Given the description of an element on the screen output the (x, y) to click on. 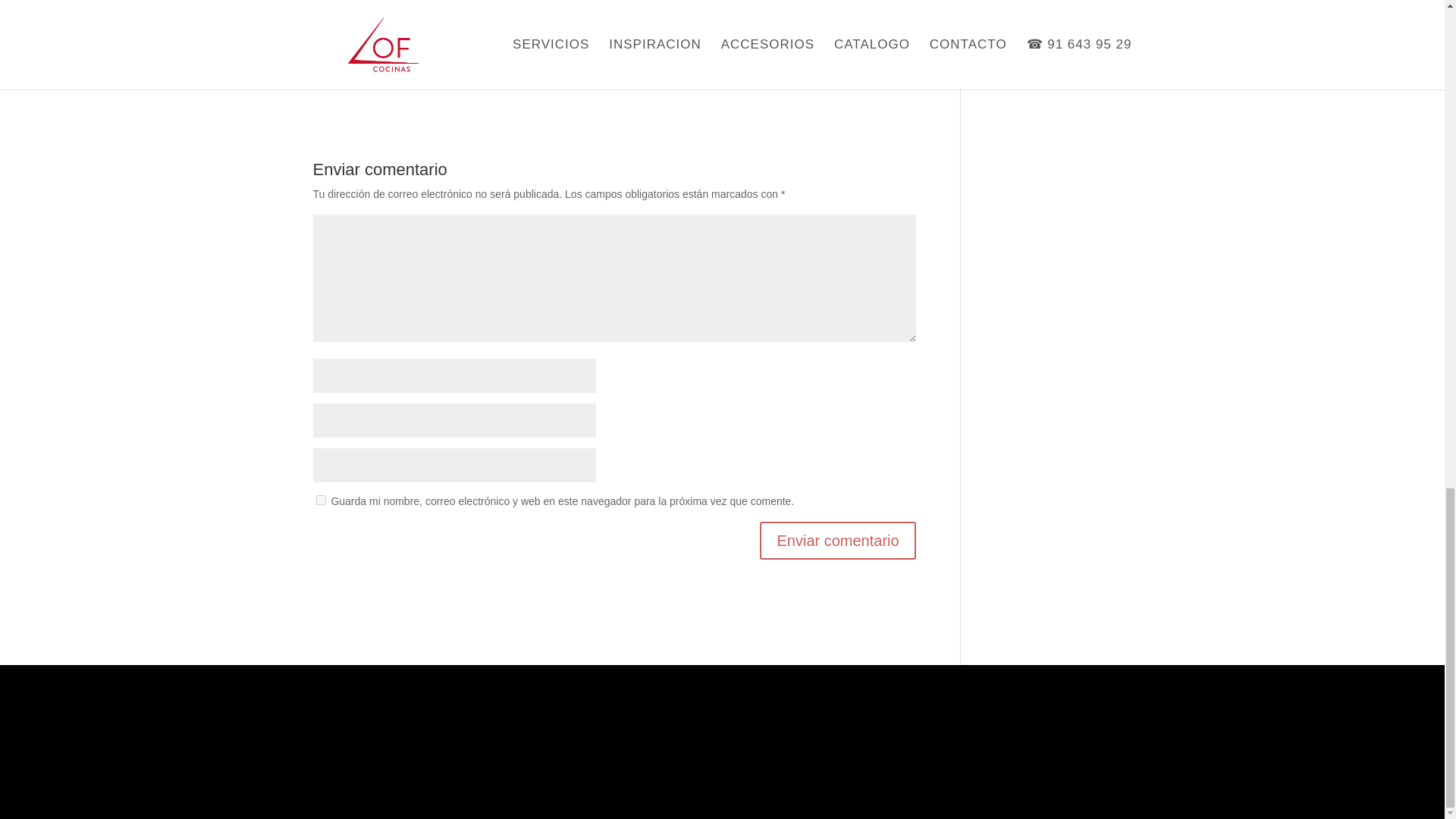
Enviar comentario (837, 540)
yes (319, 500)
Enviar comentario (837, 540)
